Given the description of an element on the screen output the (x, y) to click on. 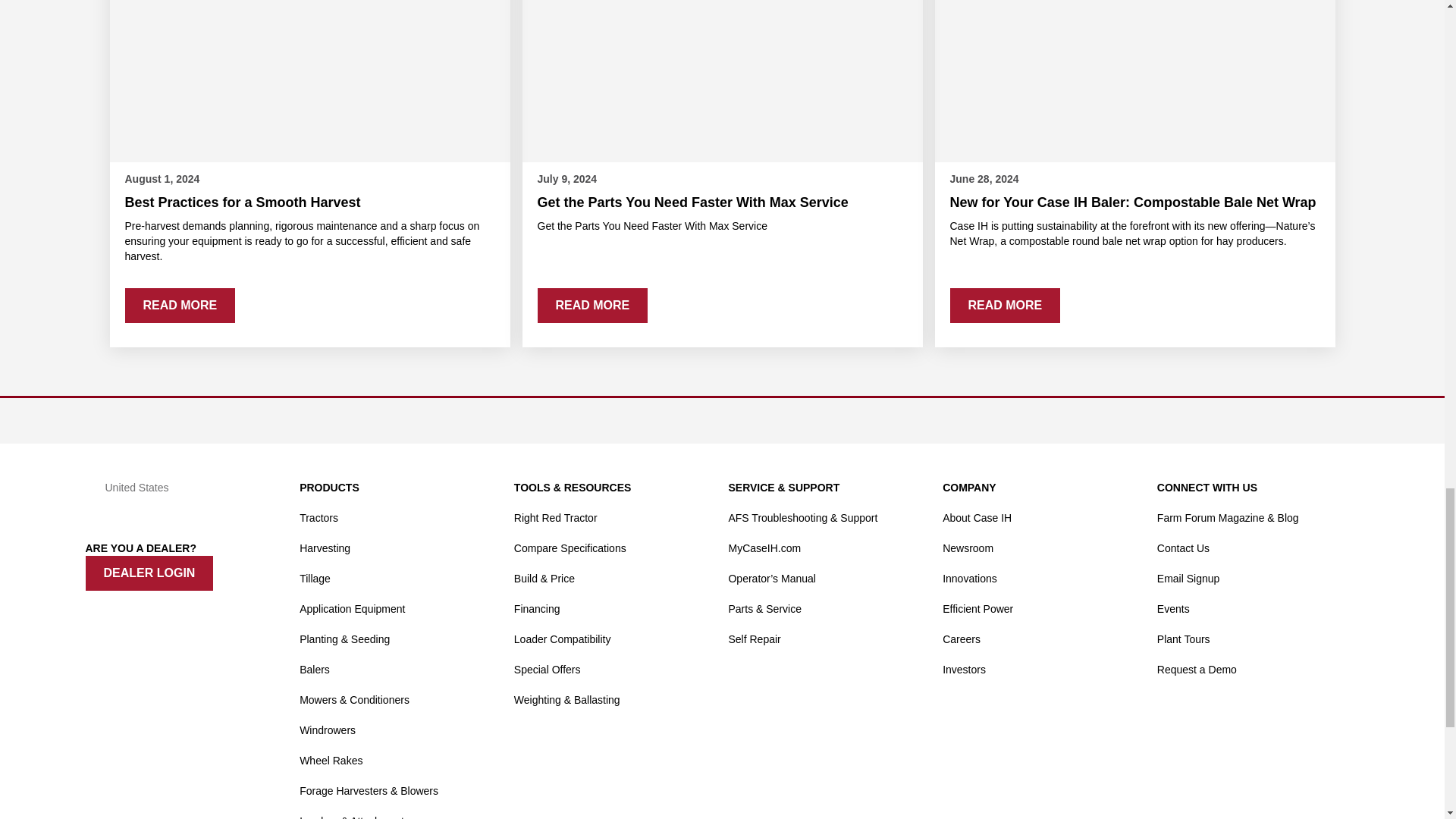
DEALER LOGIN (148, 573)
Windrowers (327, 729)
Tractors (318, 517)
Compare Specifications (569, 548)
Harvesting (324, 548)
Right Red Tractor (554, 517)
READ MORE (592, 305)
Application Equipment (351, 608)
Tillage (314, 578)
READ MORE (178, 305)
